Given the description of an element on the screen output the (x, y) to click on. 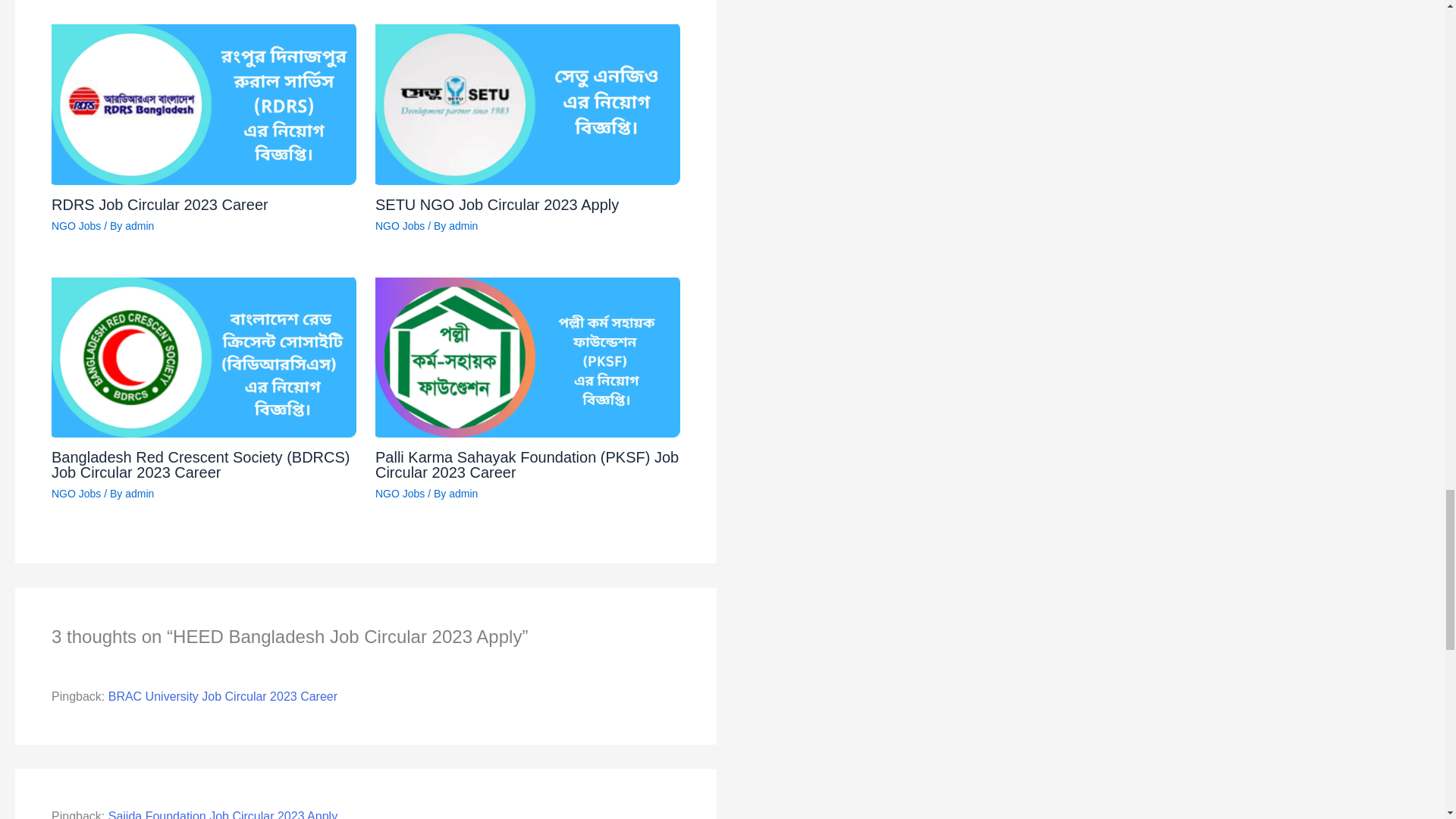
admin (139, 225)
admin (462, 225)
View all posts by admin (139, 225)
View all posts by admin (139, 493)
NGO Jobs (400, 225)
RDRS Job Circular 2023 Career (158, 204)
SETU NGO Job Circular 2023 Apply (496, 204)
NGO Jobs (75, 493)
View all posts by admin (462, 225)
NGO Jobs (75, 225)
View all posts by admin (462, 493)
